Given the description of an element on the screen output the (x, y) to click on. 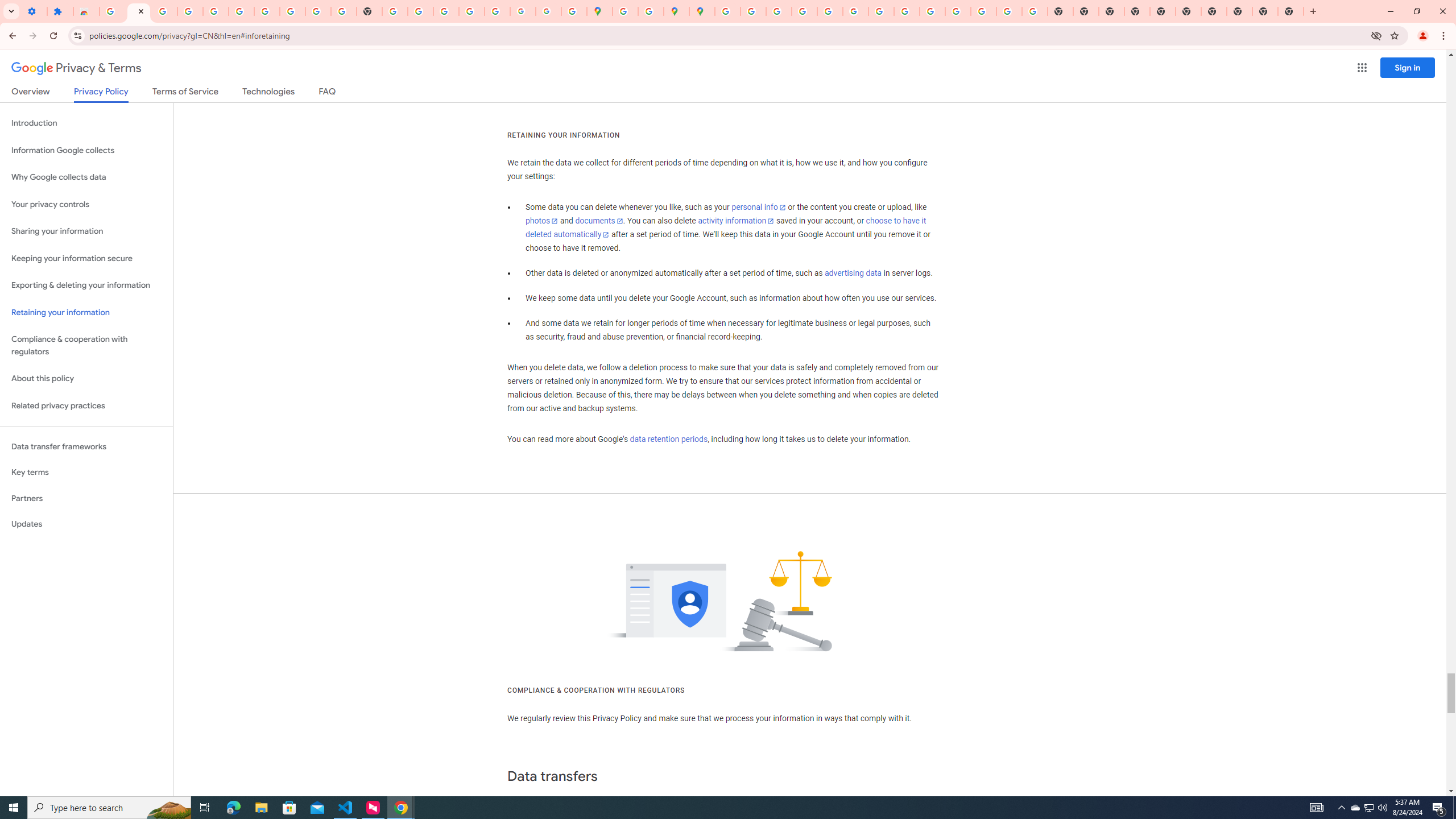
YouTube (881, 11)
New Tab (1136, 11)
photos (542, 221)
activity information (735, 221)
